Given the description of an element on the screen output the (x, y) to click on. 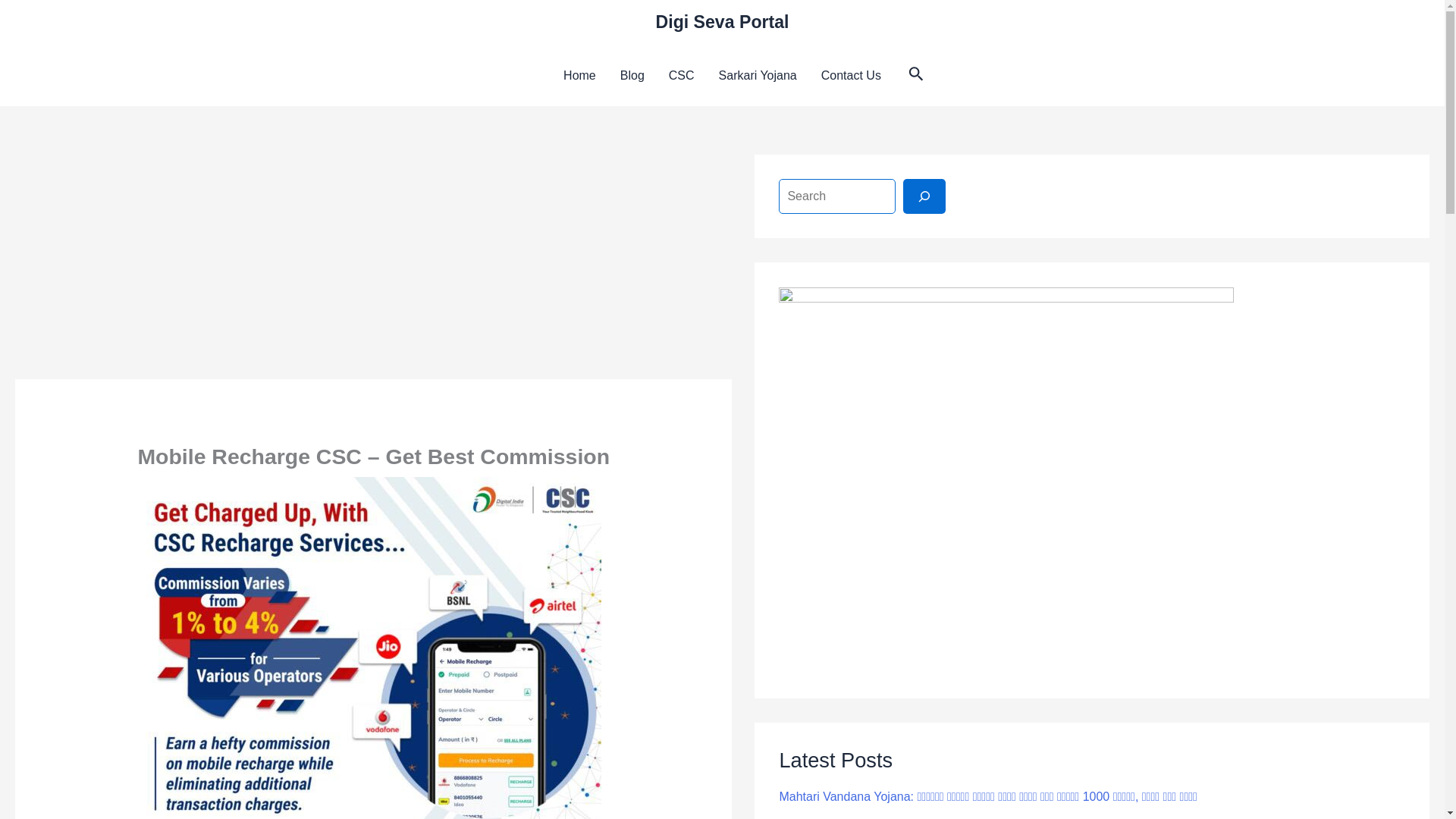
Contact Us (851, 75)
Digi Seva Portal (722, 21)
Sarkari Yojana (757, 75)
Home (579, 75)
